Given the description of an element on the screen output the (x, y) to click on. 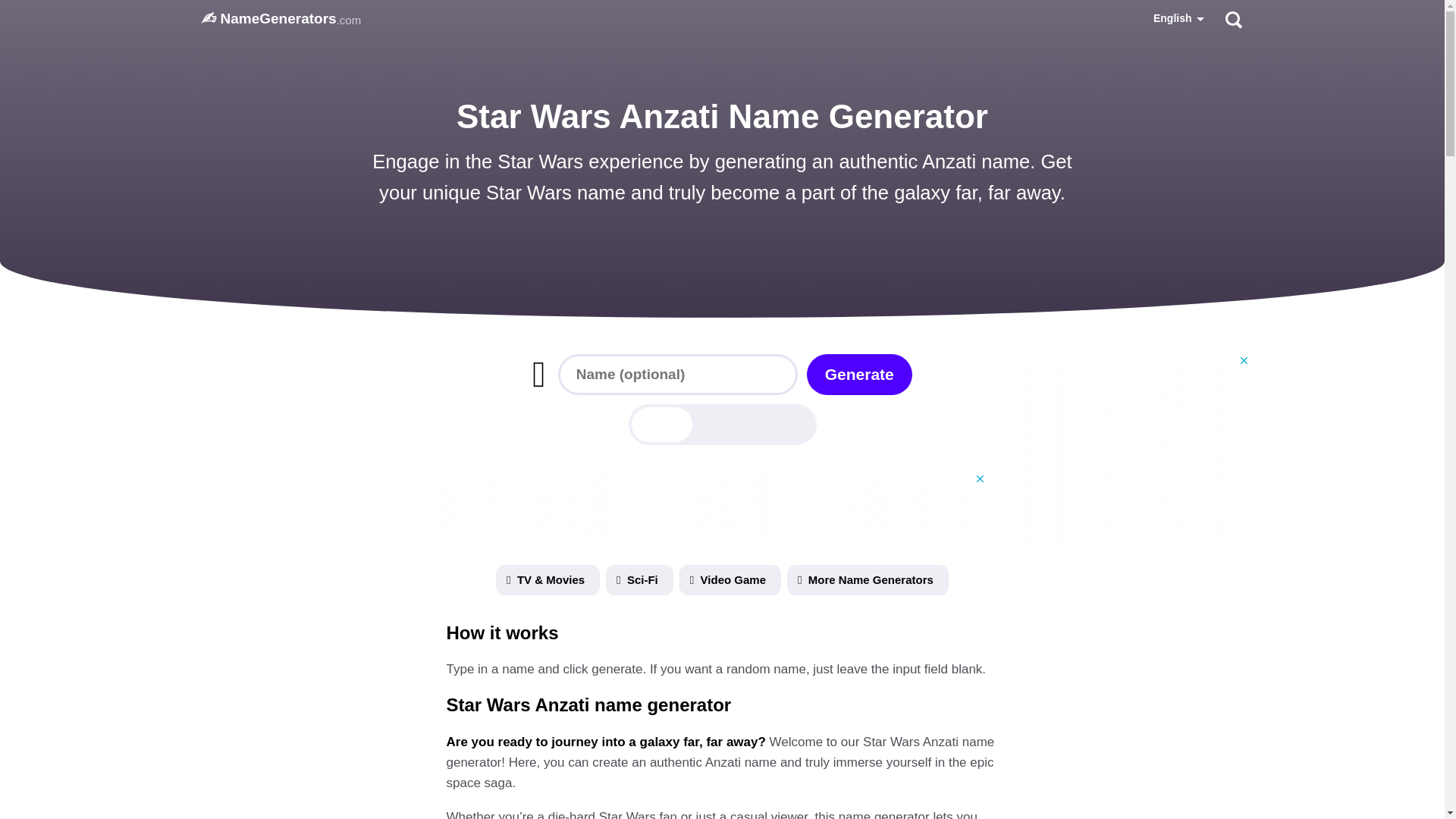
3rd party ad content (709, 506)
3rd party ad content (1135, 448)
